Given the description of an element on the screen output the (x, y) to click on. 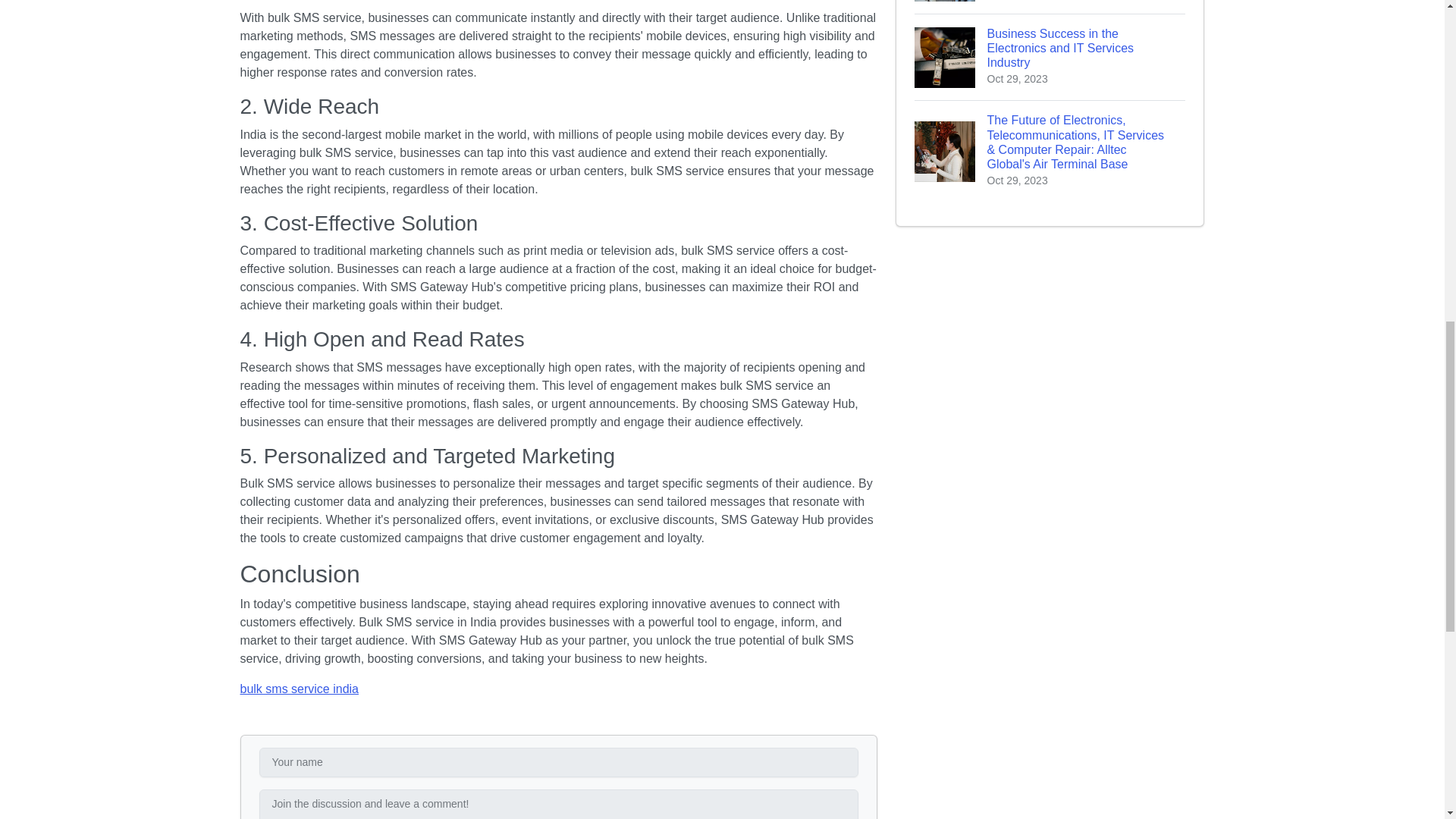
bulk sms service india (299, 688)
